Given the description of an element on the screen output the (x, y) to click on. 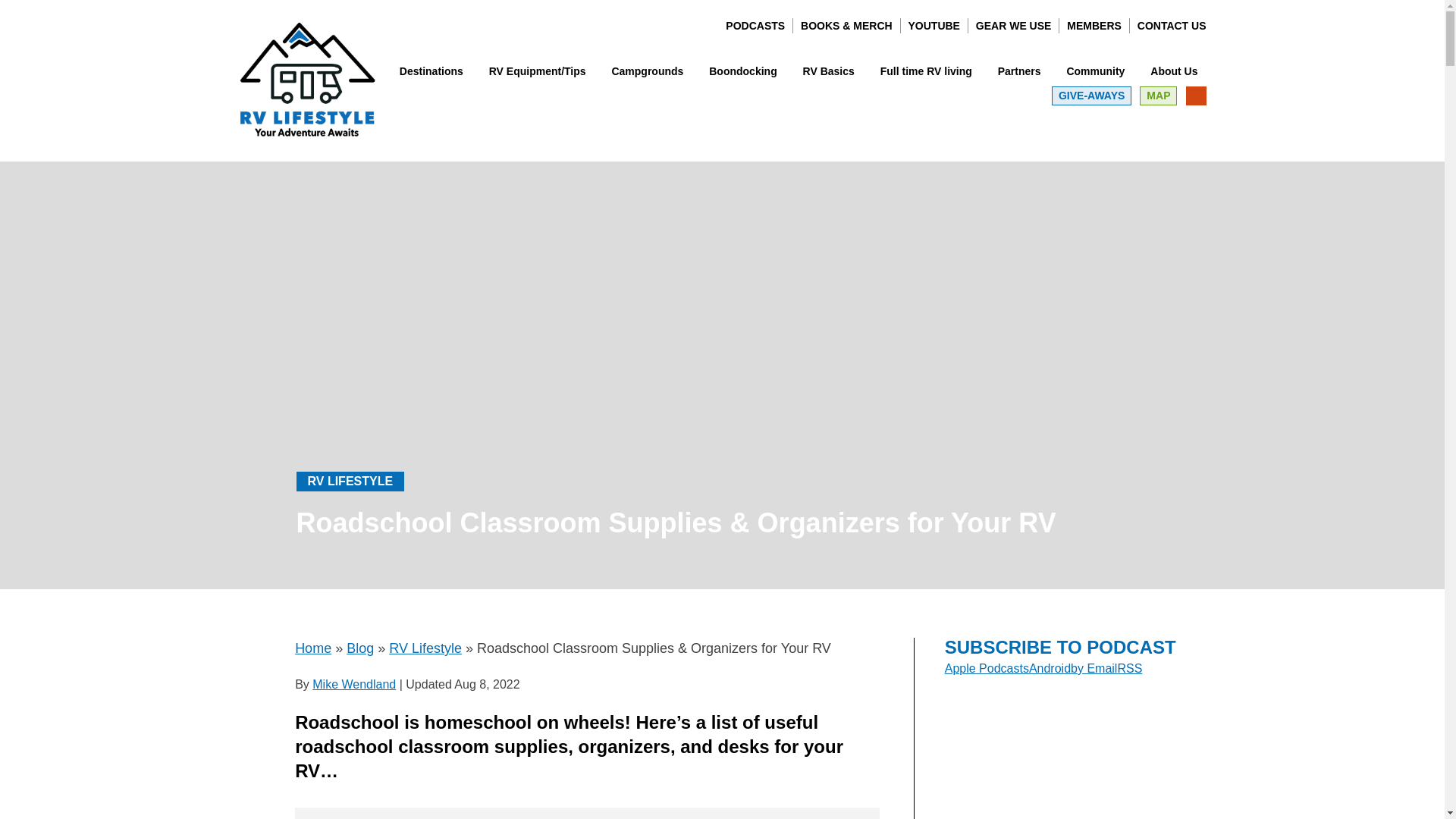
Subscribe via RSS (1128, 667)
PODCASTS (754, 25)
YOUTUBE (933, 25)
Subscribe by Email (1093, 667)
CONTACT US (1172, 25)
Destinations (430, 70)
MEMBERS (1094, 25)
Subscribe on Apple Podcasts (986, 667)
Subscribe on Android (1049, 667)
GEAR WE USE (1013, 25)
